Given the description of an element on the screen output the (x, y) to click on. 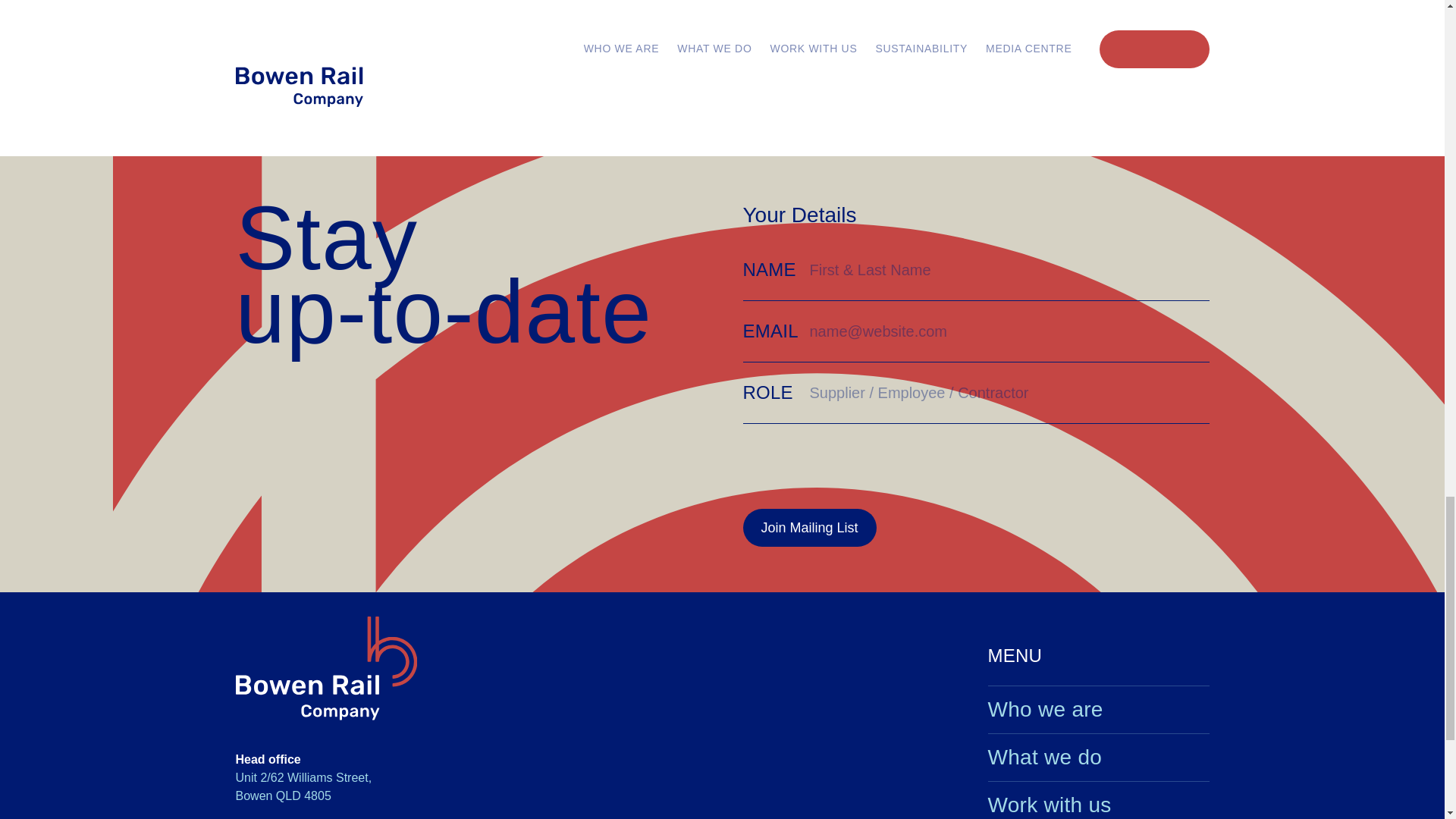
Back to List (1016, 98)
Join Mailing List (809, 527)
Work with us (1097, 804)
DOWNLOAD PDF (480, 12)
What we do (1097, 757)
Who we are (1097, 709)
